Given the description of an element on the screen output the (x, y) to click on. 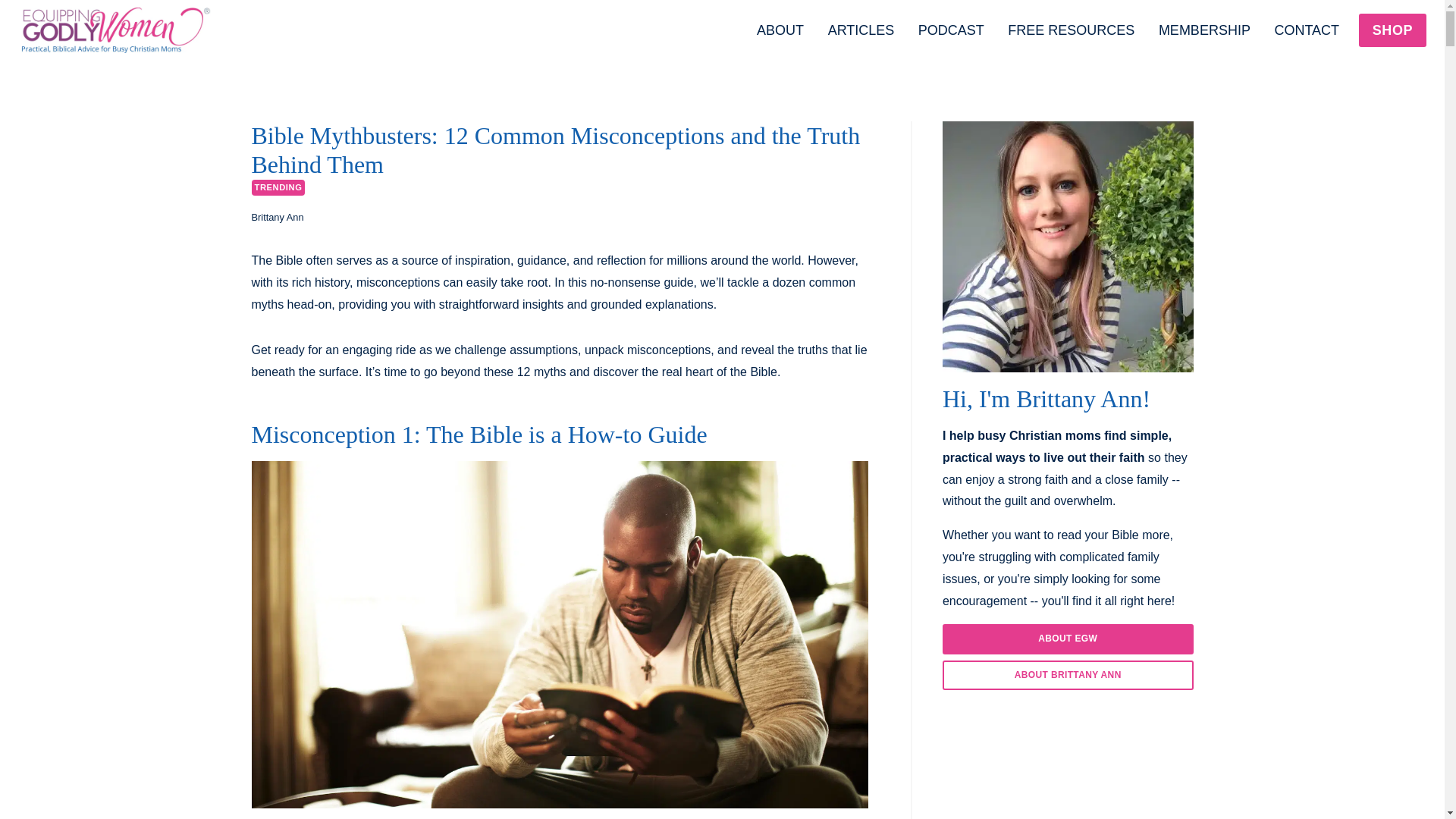
ABOUT EGW (1067, 638)
Brittany Ann (277, 216)
SHOP (1392, 29)
TRENDING (278, 187)
MEMBERSHIP (1204, 29)
ABOUT BRITTANY ANN (1067, 675)
CONTACT (1306, 29)
FREE RESOURCES (1071, 29)
ARTICLES (860, 29)
ABOUT (779, 29)
